Given the description of an element on the screen output the (x, y) to click on. 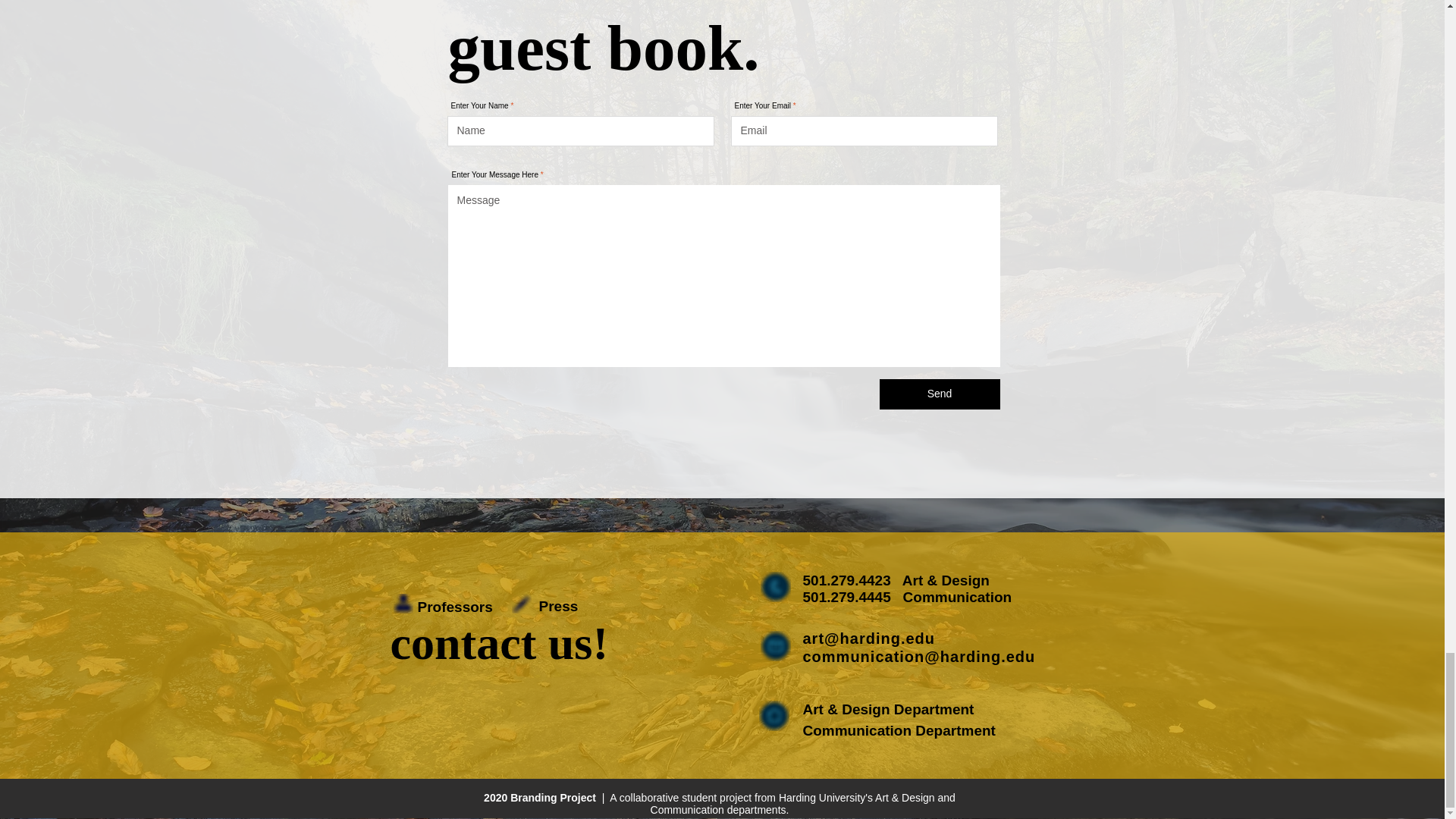
Send (939, 394)
Professors (455, 607)
Communication Department  (900, 730)
Press (558, 606)
